Given the description of an element on the screen output the (x, y) to click on. 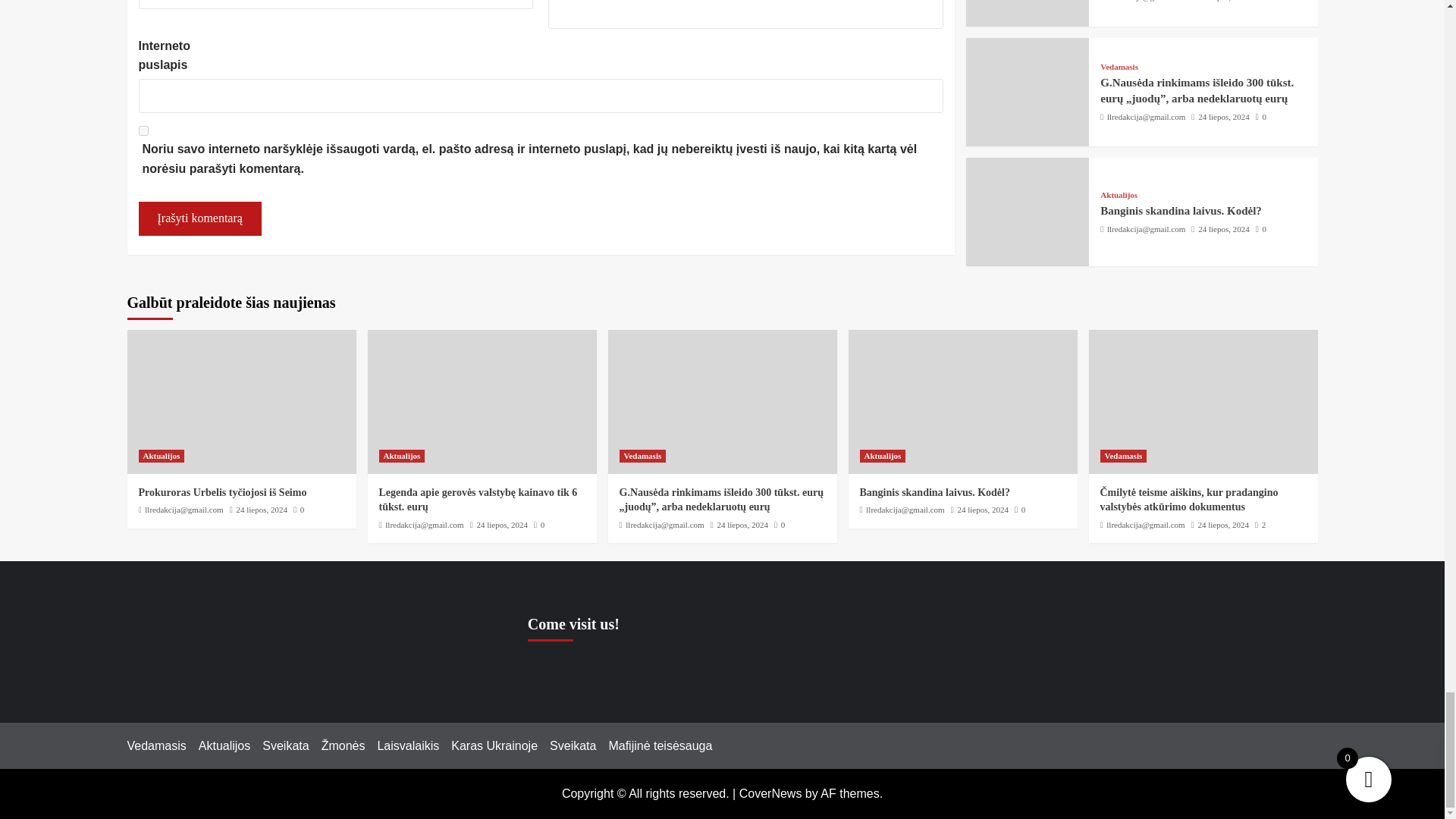
yes (143, 130)
